Given the description of an element on the screen output the (x, y) to click on. 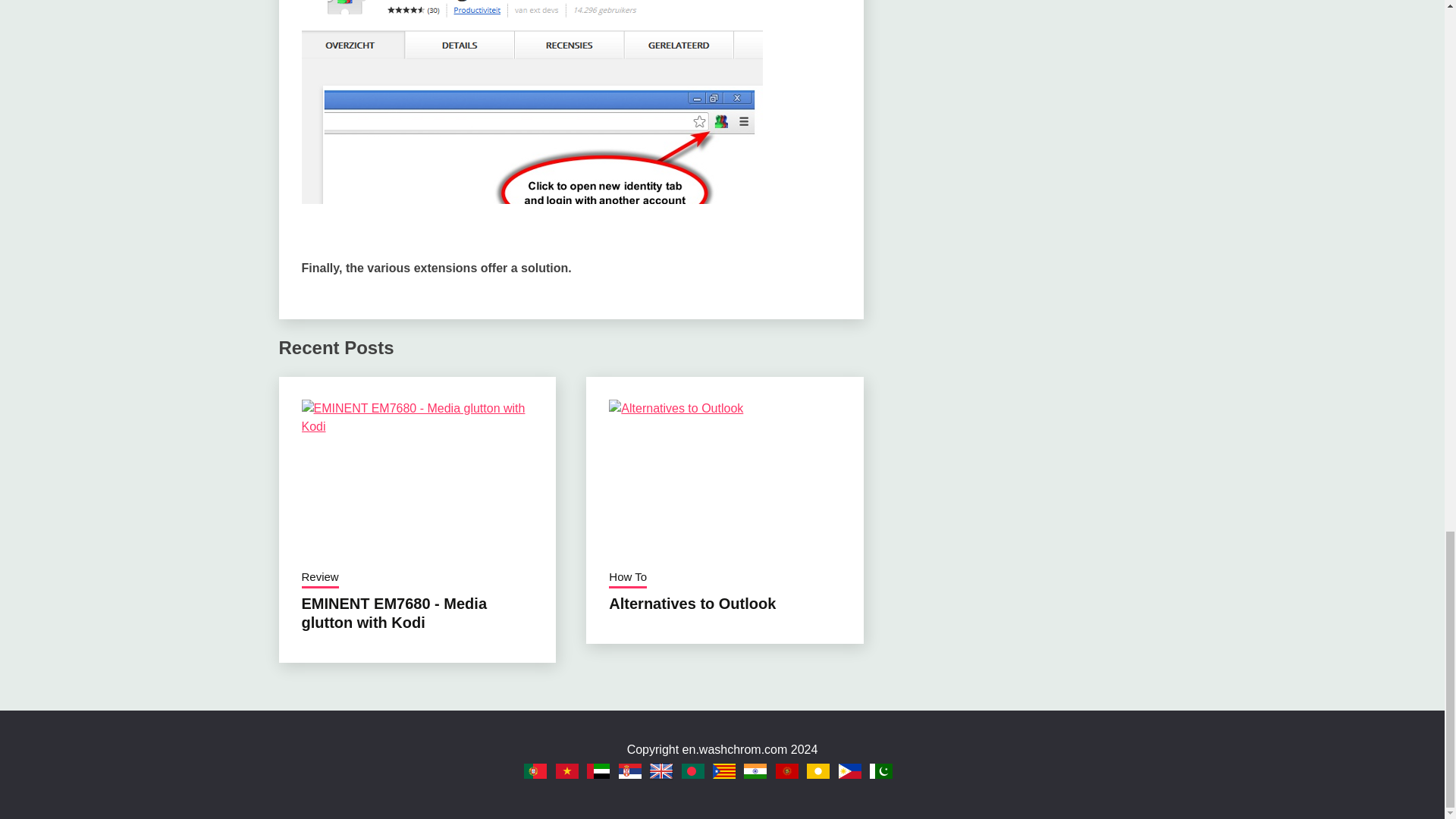
Review (320, 578)
Alternatives to Outlook (692, 603)
EMINENT EM7680 - Media glutton with Kodi (394, 612)
How To (627, 578)
